Given the description of an element on the screen output the (x, y) to click on. 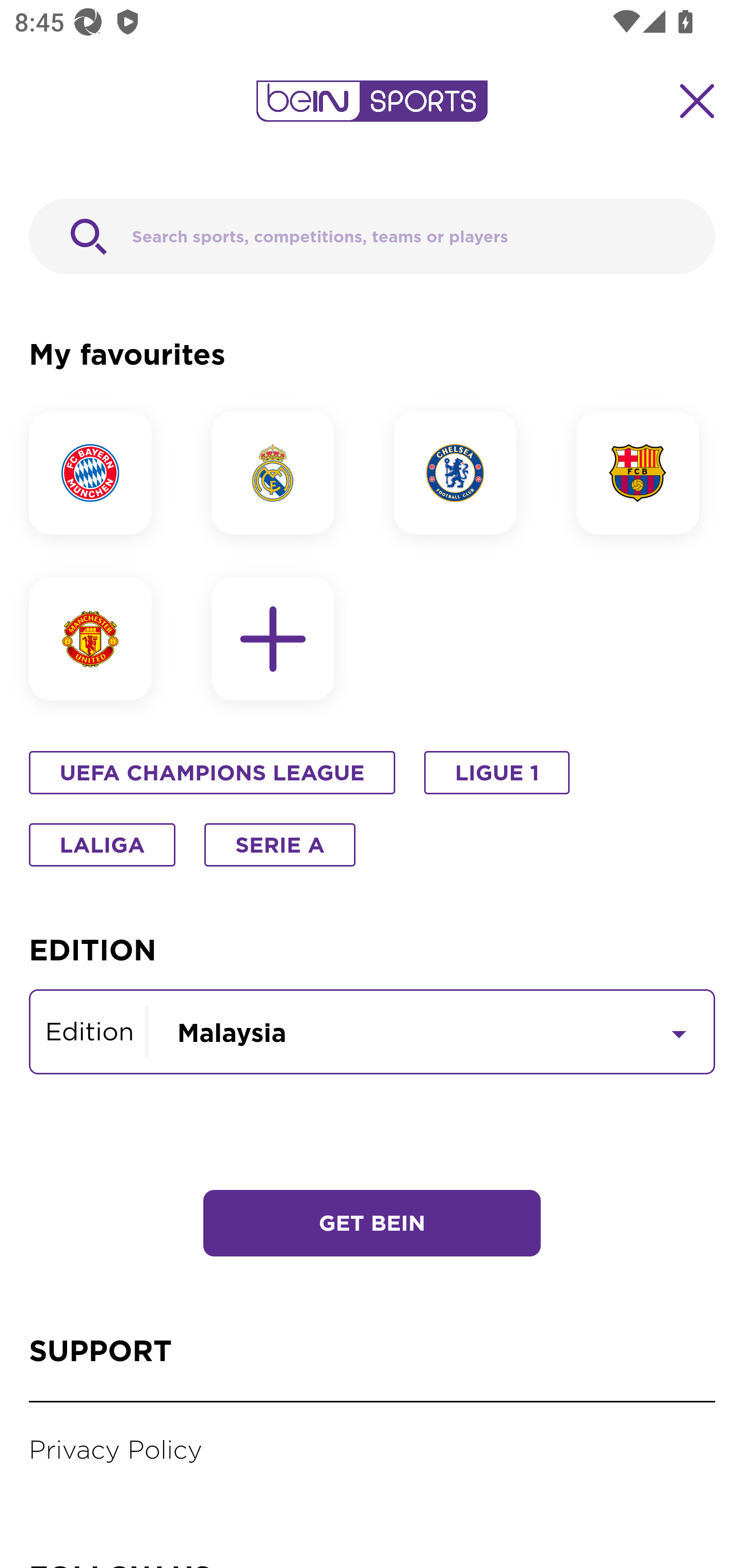
en-my?platform=mobile_android bein logo (371, 101)
Close Menu Icon (697, 101)
